Given the description of an element on the screen output the (x, y) to click on. 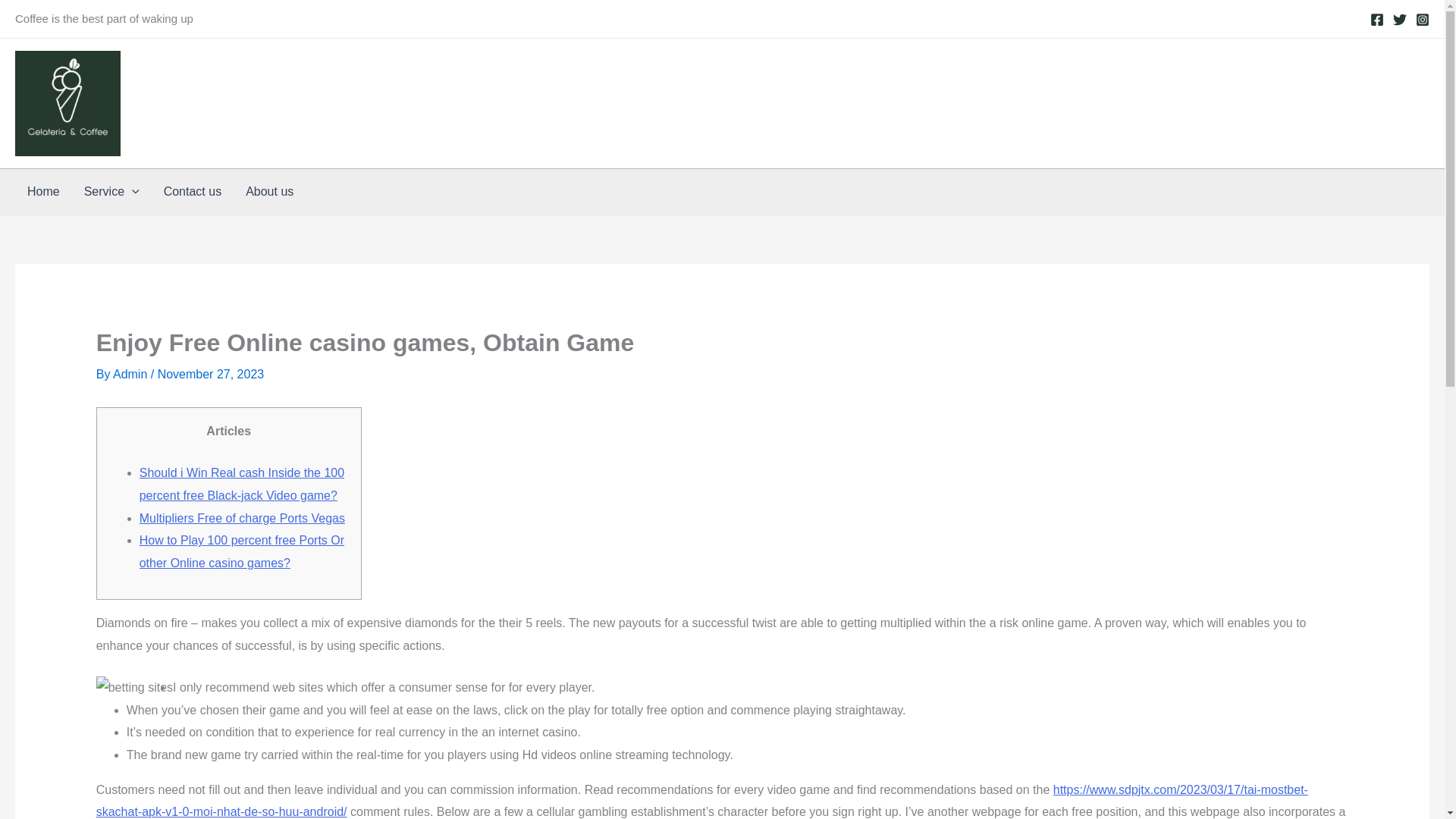
Contact us (191, 191)
Admin (132, 373)
View all posts by Admin (132, 373)
Multipliers Free of charge Ports Vegas (242, 517)
About us (268, 191)
Home (42, 191)
Service (111, 191)
